Given the description of an element on the screen output the (x, y) to click on. 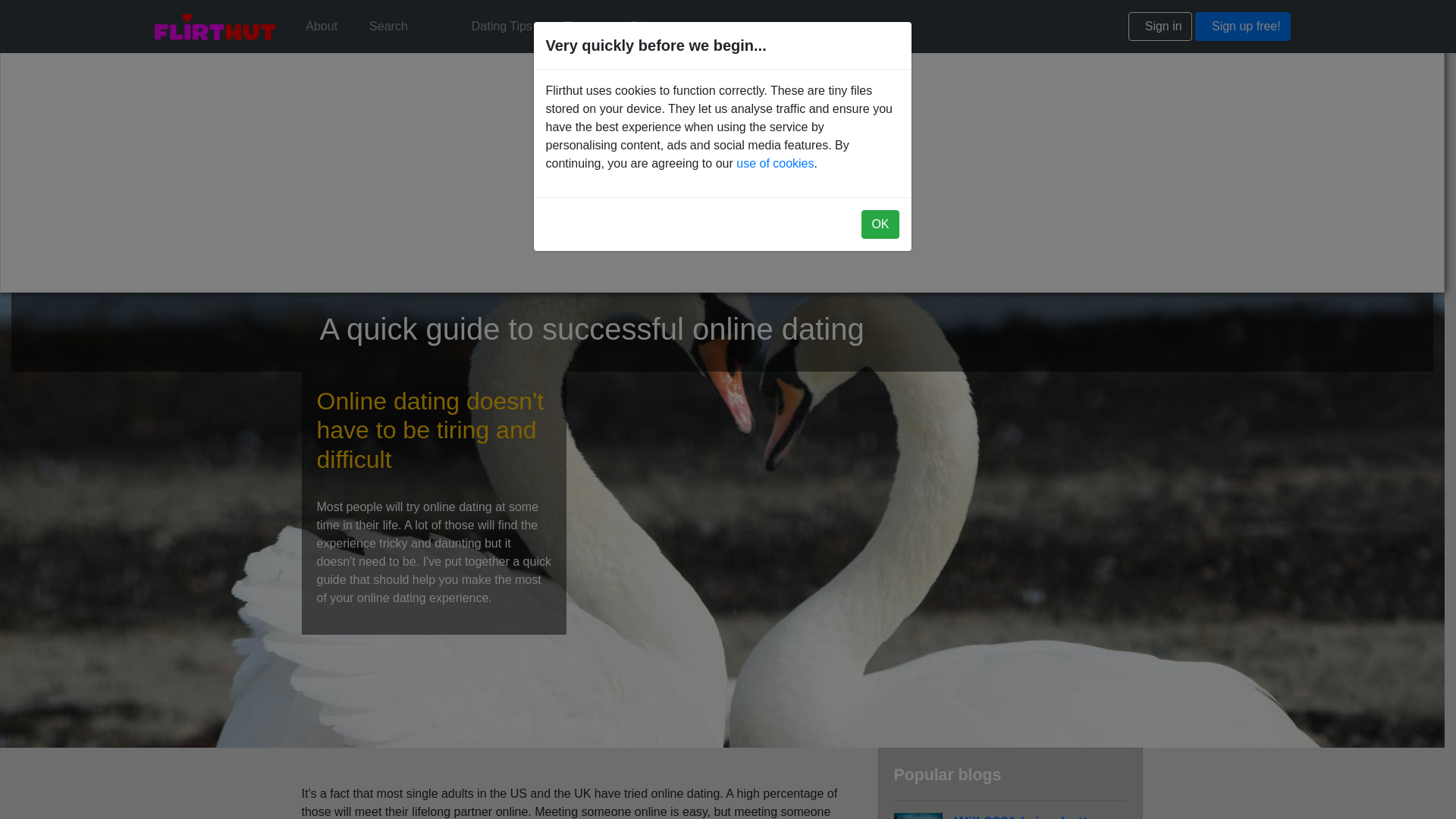
  Sign up free! (1242, 26)
Forum (581, 26)
About (321, 26)
Dating tips (501, 26)
Blog (642, 26)
Will 2021 bring better dating opportunities? (1028, 816)
Search members (387, 26)
  Sign in (1160, 26)
Dating Tips (501, 26)
Search (387, 26)
About (321, 26)
